Given the description of an element on the screen output the (x, y) to click on. 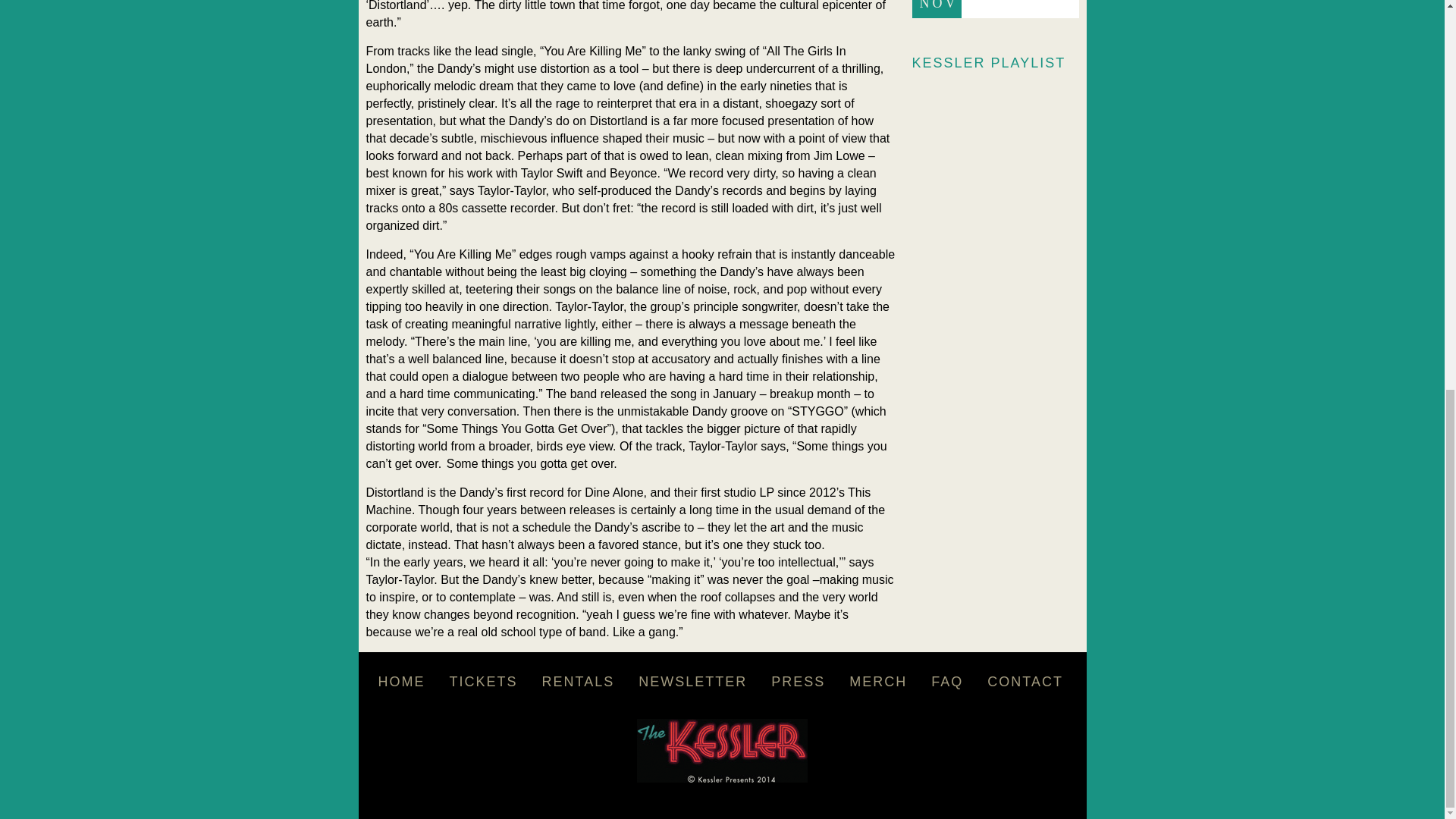
CONTACT (1025, 681)
HOME (400, 681)
FAQ (946, 681)
NEWSLETTER (692, 681)
TICKETS (482, 681)
MERCH (877, 681)
RENTALS (578, 681)
PRESS (797, 681)
